Given the description of an element on the screen output the (x, y) to click on. 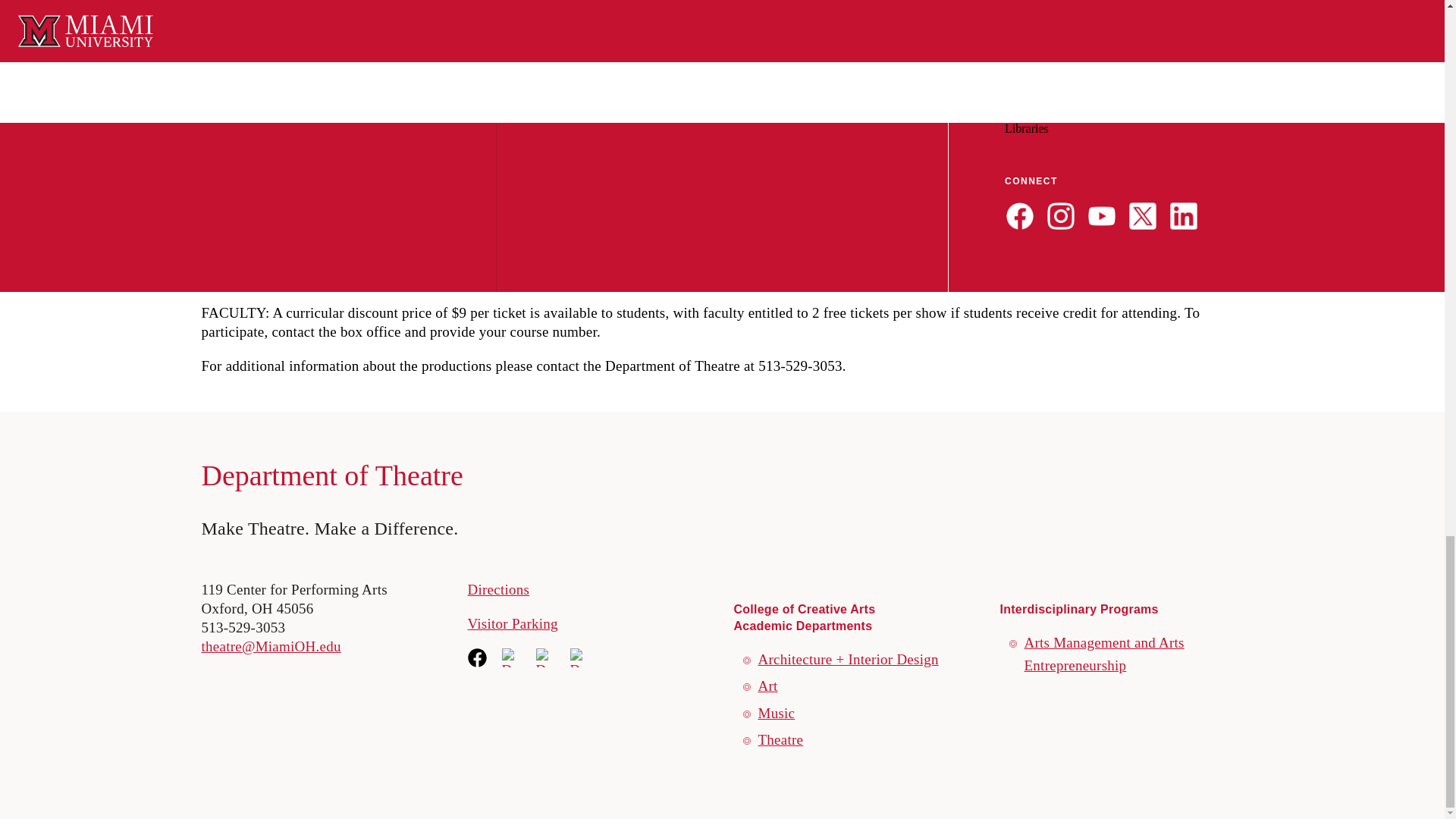
Visitor Parking (512, 623)
Season tickets (244, 244)
Tickets can be purchased online (296, 191)
Directions (498, 589)
